Given the description of an element on the screen output the (x, y) to click on. 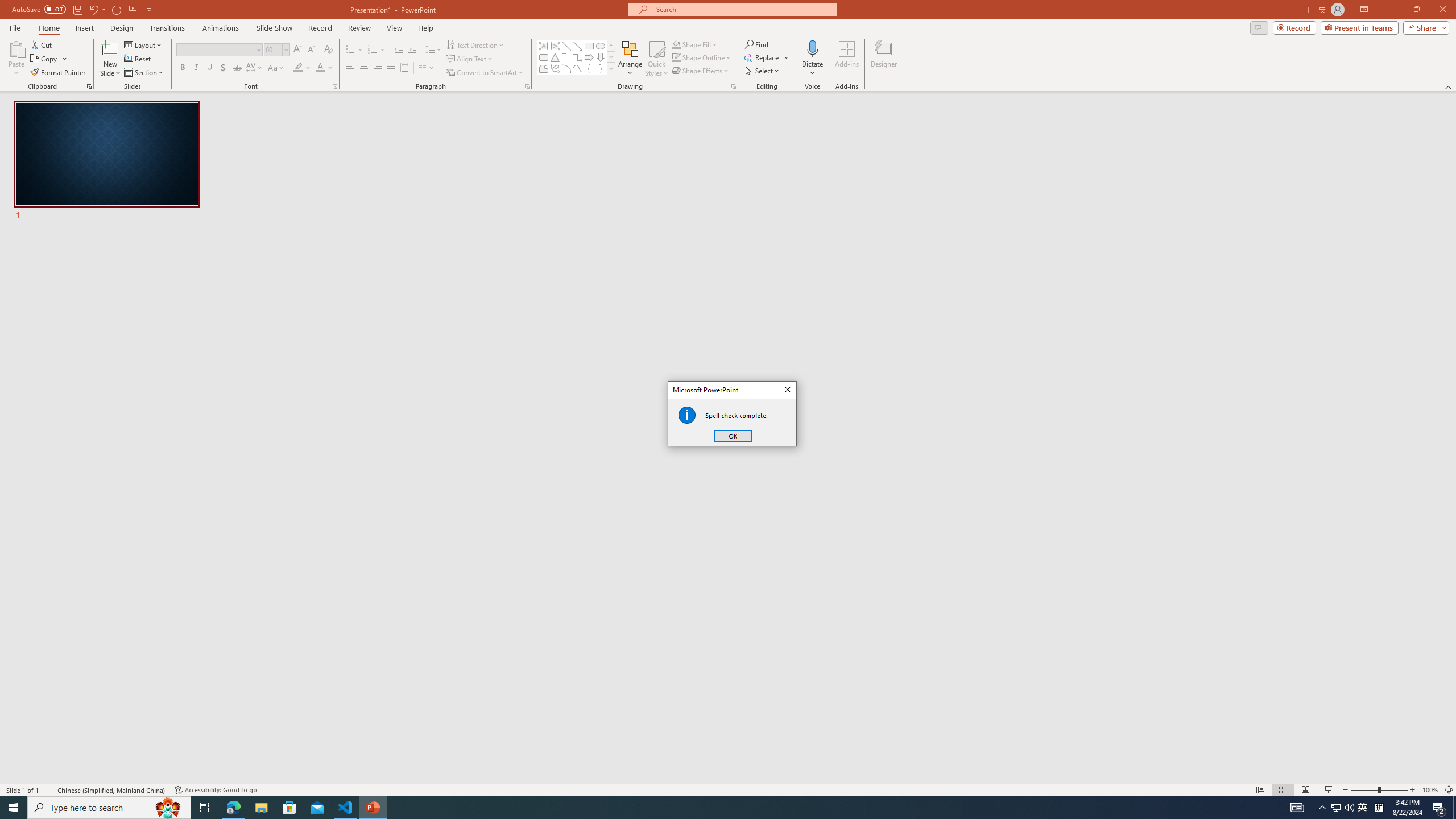
Spell Check  (49, 790)
